Given the description of an element on the screen output the (x, y) to click on. 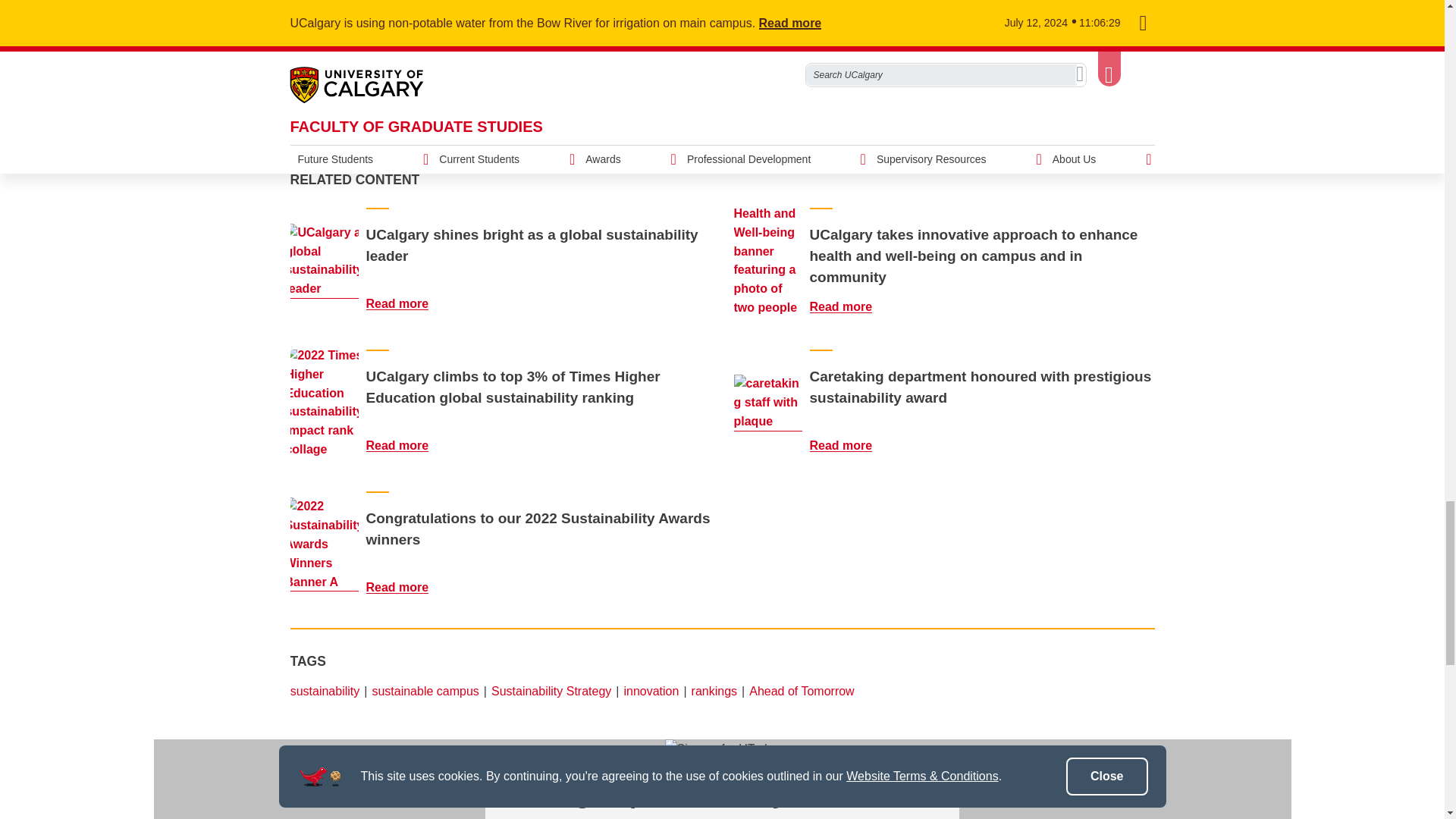
Congratulations to our 2022 Sustainability Awards winners    (405, 586)
UCalgary shines bright as a global sustainability leader   (405, 303)
UCalgary shines bright as a global sustainability leader   (323, 260)
